Given the description of an element on the screen output the (x, y) to click on. 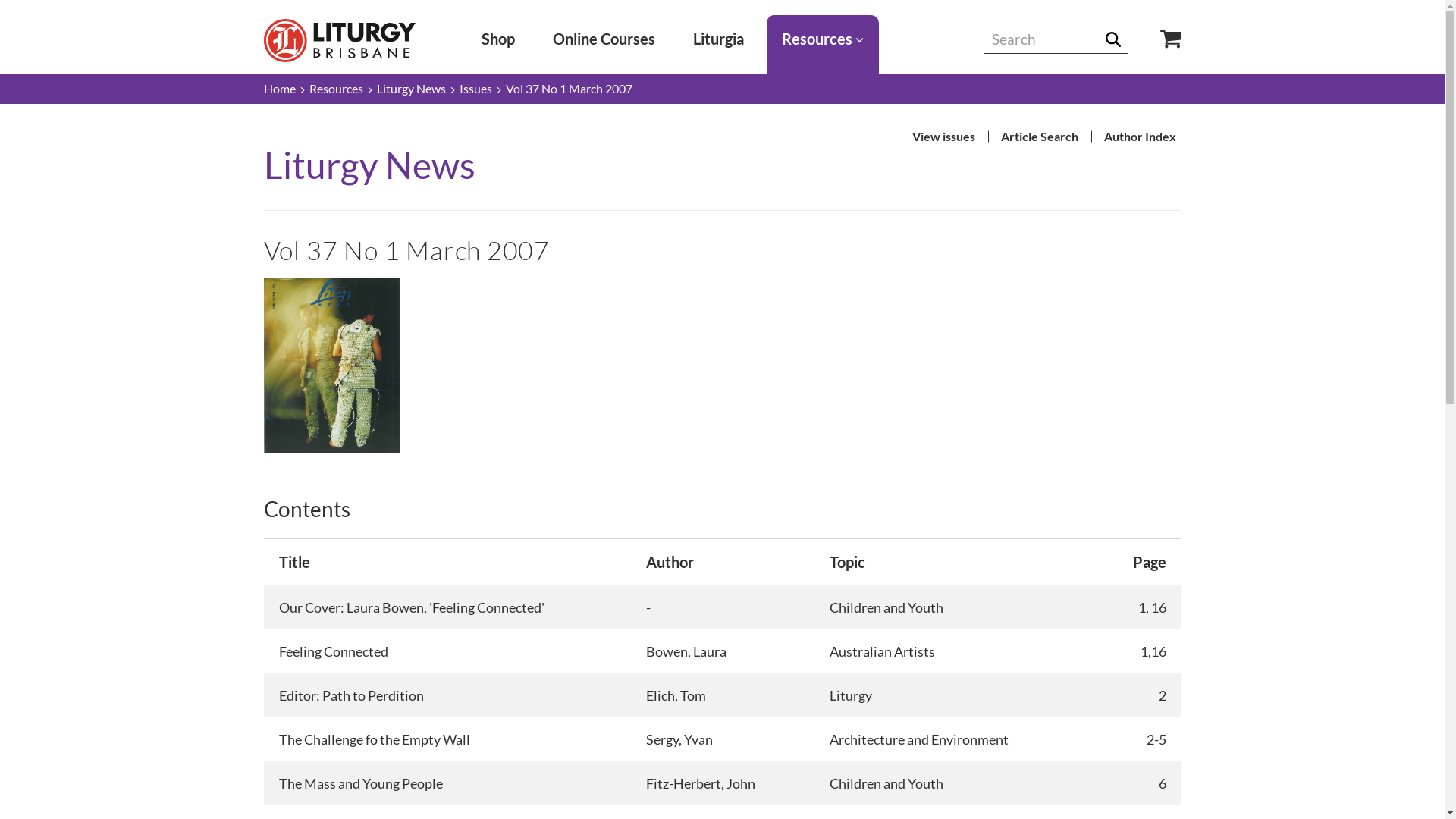
Search Element type: text (1118, 39)
Elich, Tom Element type: text (676, 695)
Shop Icon Element type: text (1158, 39)
Liturgy News Element type: text (410, 88)
Online Courses Element type: text (603, 38)
Liturgy Element type: text (850, 695)
Fitz-Herbert, John Element type: text (700, 783)
Architecture and Environment Element type: text (918, 739)
Article Search Element type: text (1038, 135)
Children and Youth Element type: text (886, 783)
Resources Element type: text (822, 38)
View issues Element type: text (943, 135)
Australian Artists Element type: text (882, 651)
Children and Youth Element type: text (886, 607)
Sergy, Yvan Element type: text (679, 739)
Resources Element type: text (336, 88)
Liturgia Element type: text (718, 38)
Author Index Element type: text (1139, 135)
Home Element type: text (279, 88)
Bowen, Laura Element type: text (686, 651)
Shop Element type: text (498, 38)
